Given the description of an element on the screen output the (x, y) to click on. 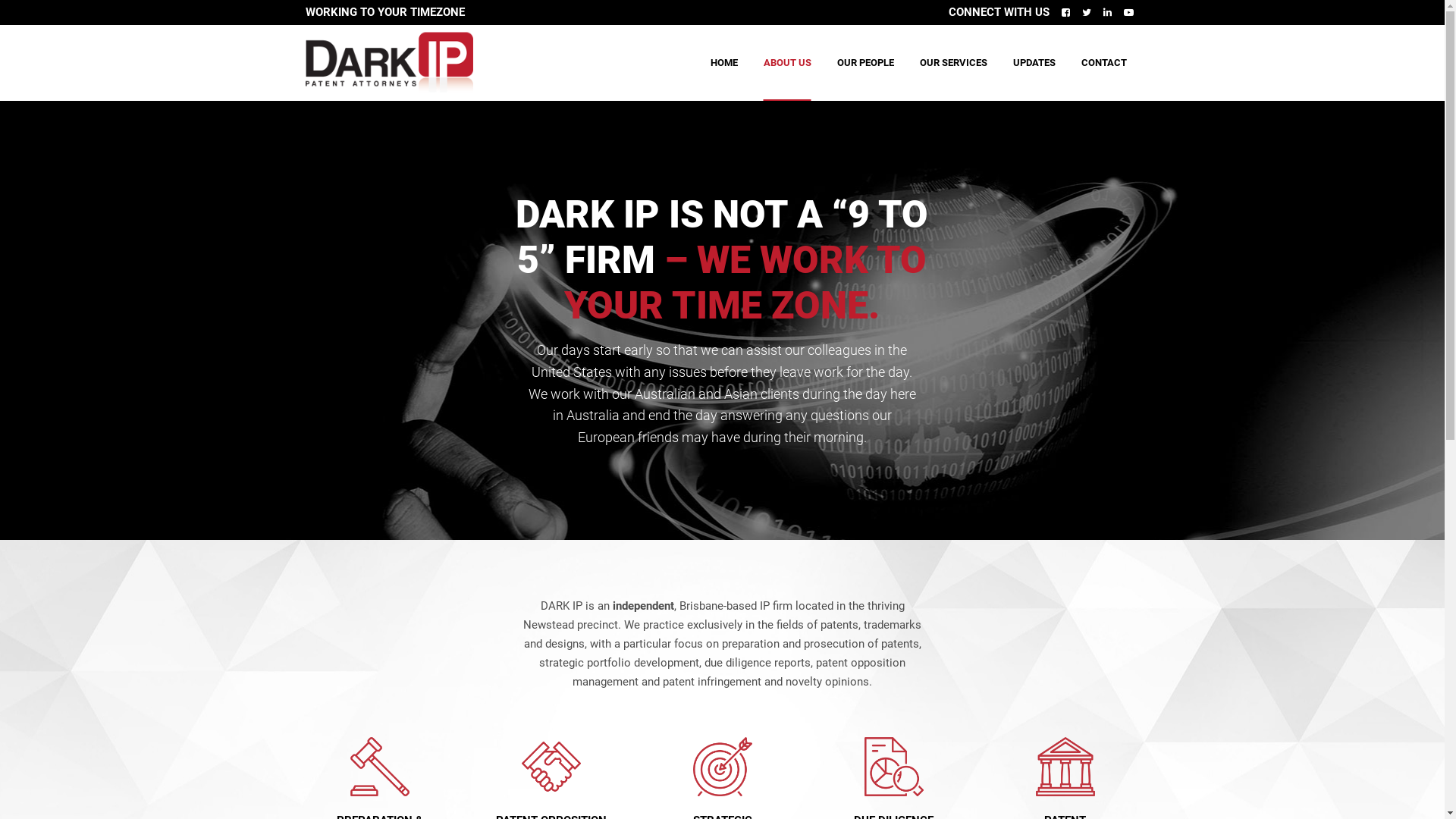
HOME Element type: text (723, 62)
OUR SERVICES Element type: text (952, 62)
OUR PEOPLE Element type: text (865, 62)
CONTACT Element type: text (1103, 62)
ABOUT US Element type: text (786, 62)
UPDATES Element type: text (1034, 62)
